Given the description of an element on the screen output the (x, y) to click on. 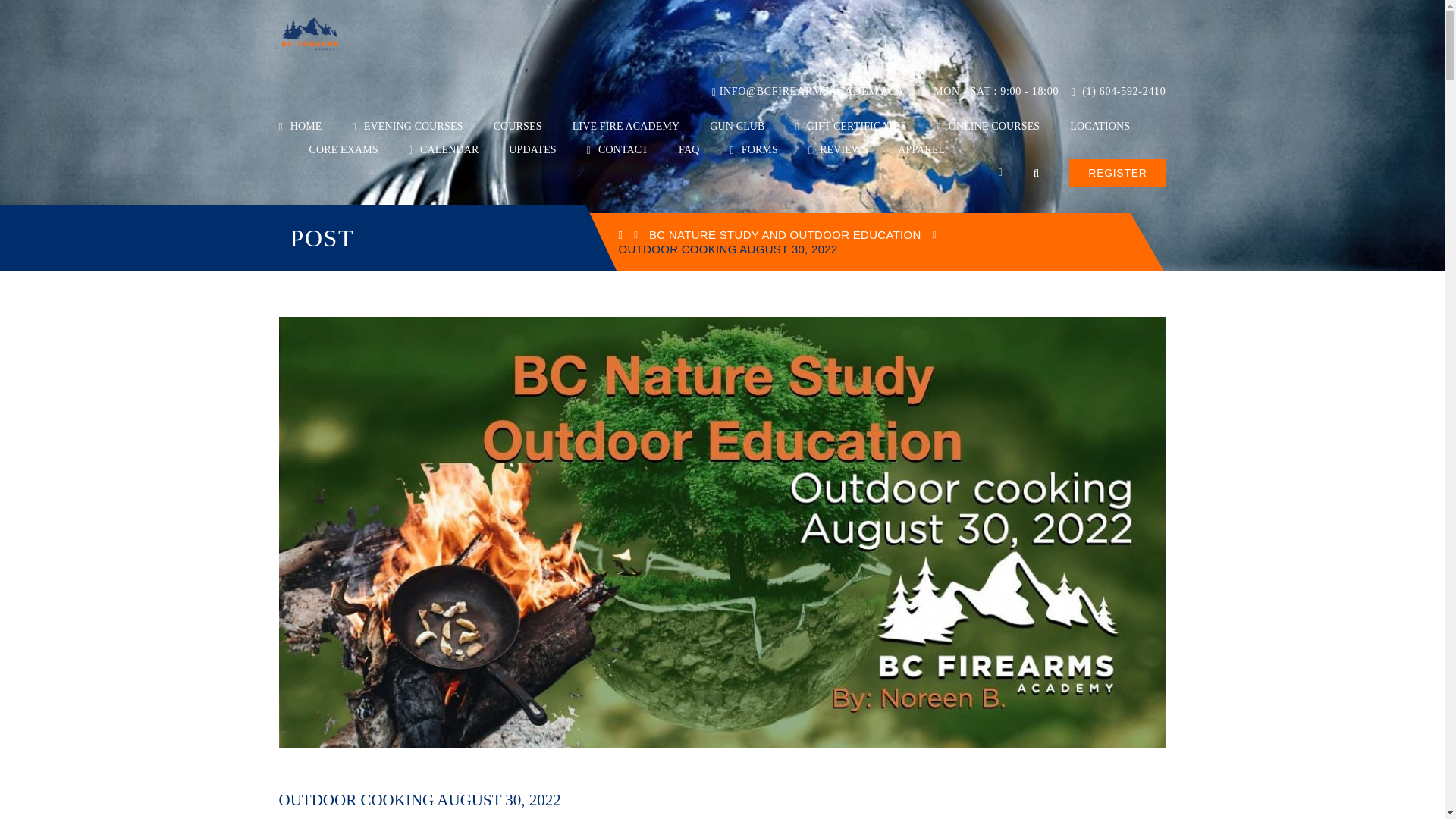
HOME (300, 125)
BC Nature Study and Outdoor Education (785, 234)
COURSES (517, 125)
EVENING COURSES (407, 125)
